Given the description of an element on the screen output the (x, y) to click on. 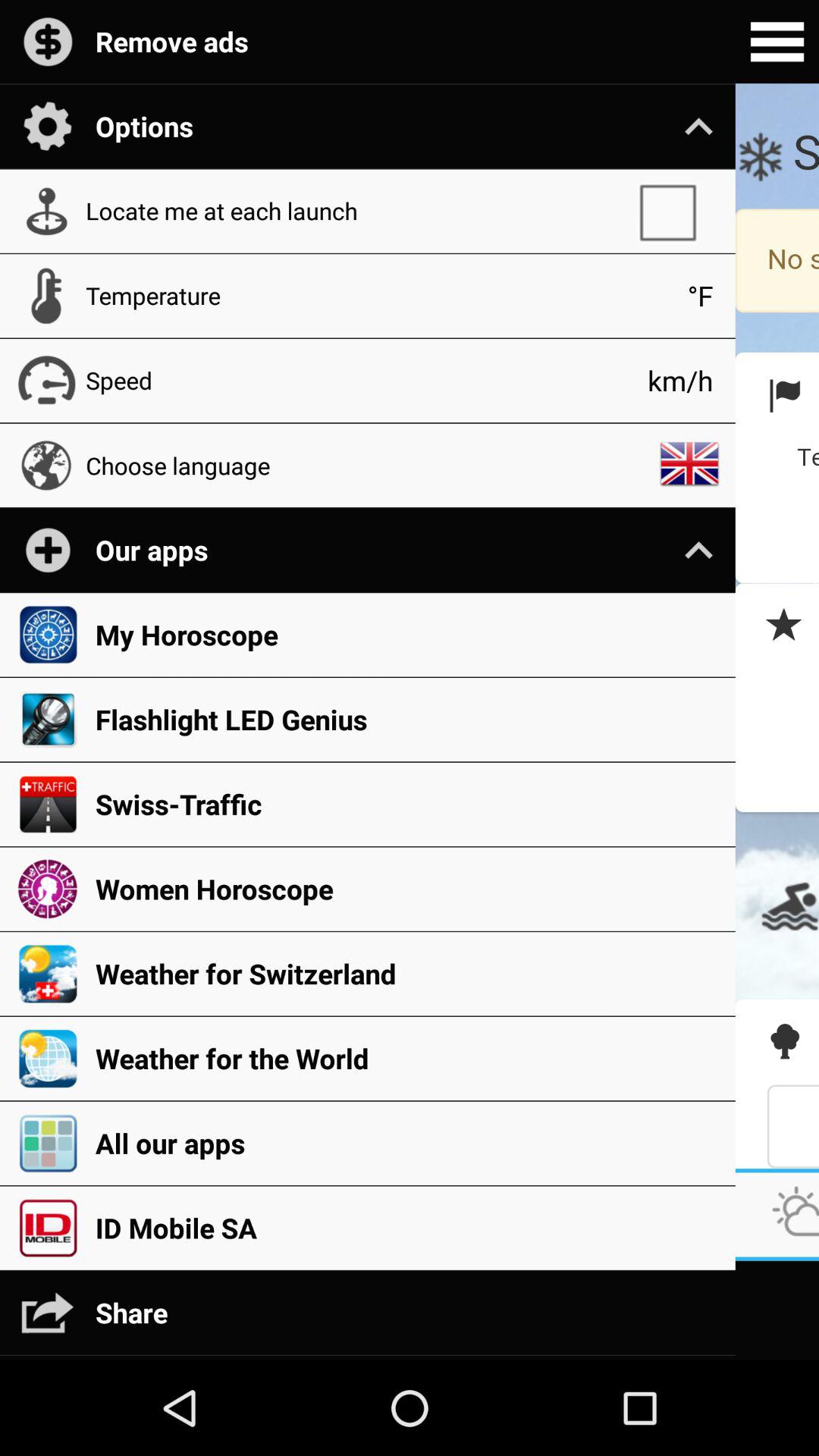
jump until temperature icon (378, 295)
